Given the description of an element on the screen output the (x, y) to click on. 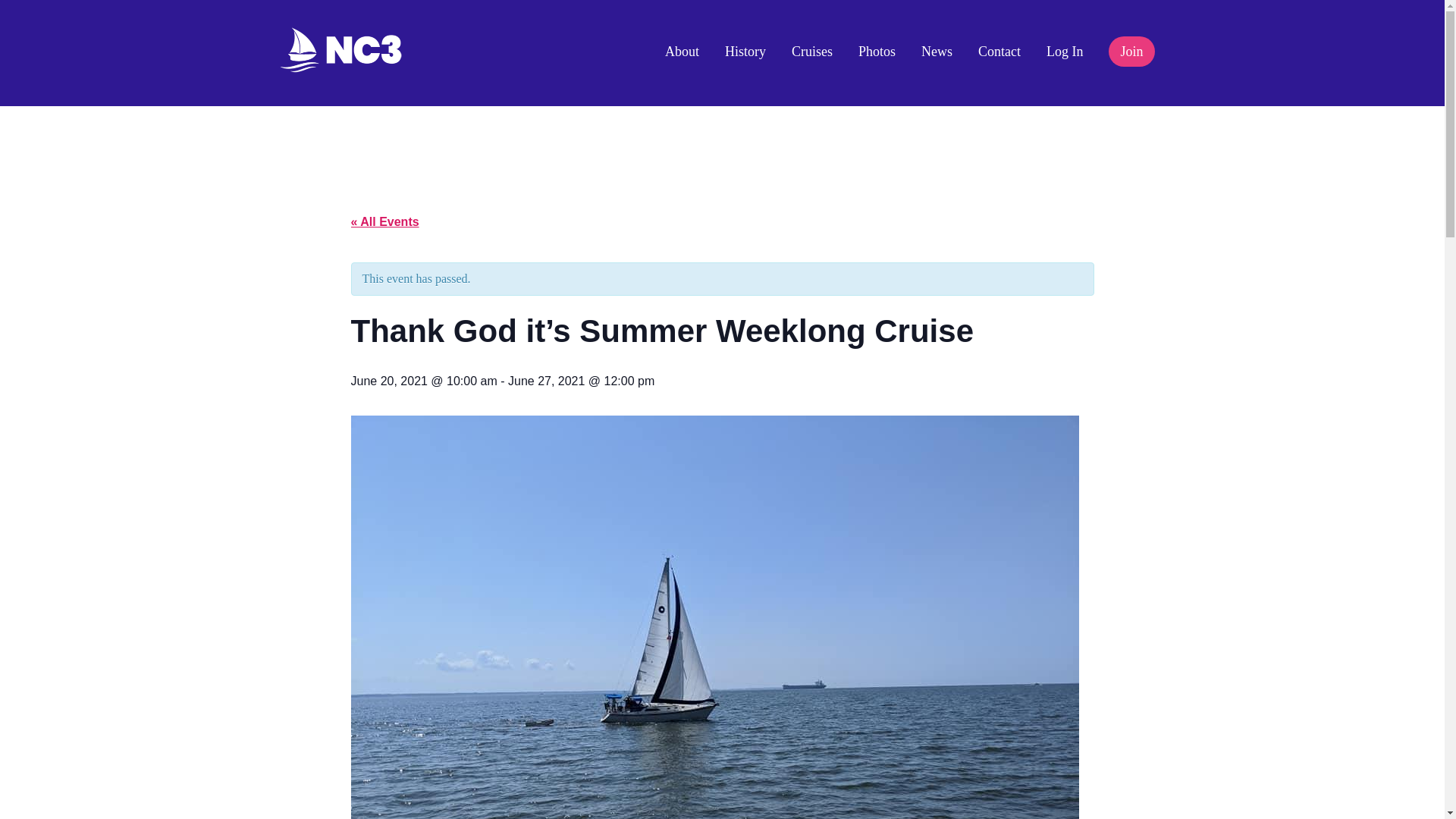
Cruises (812, 51)
About (681, 51)
Logo (341, 50)
Contact (999, 51)
News (936, 51)
Photos (877, 51)
History (745, 51)
Log In (1064, 51)
Join (1131, 51)
